Given the description of an element on the screen output the (x, y) to click on. 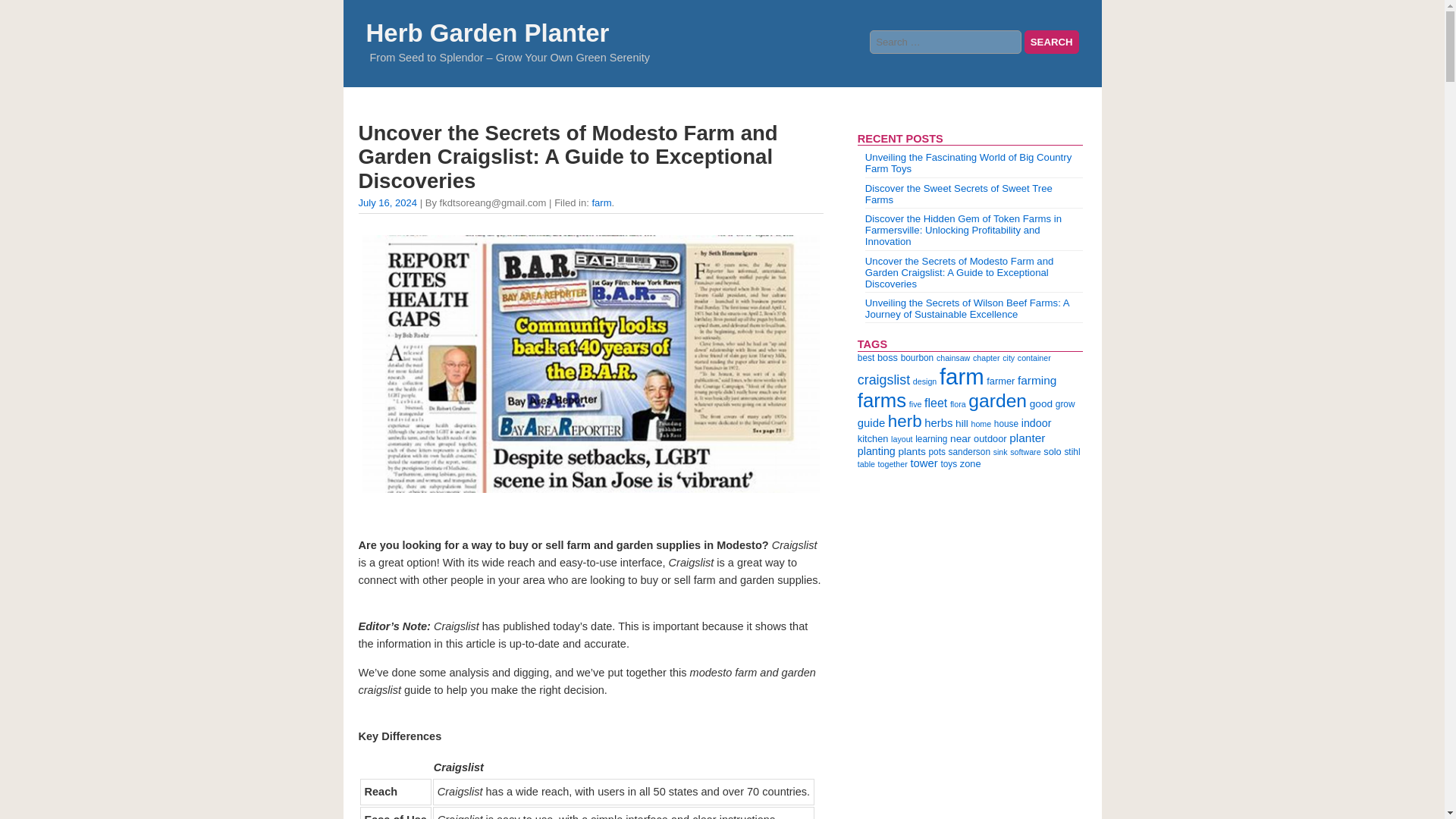
five (914, 403)
bourbon (917, 357)
farming (1037, 379)
boss (887, 357)
city (1008, 357)
container (1034, 357)
hill (961, 423)
chainsaw (952, 357)
grow (1065, 403)
Search (1051, 42)
Herb Garden Planter (486, 32)
herb (904, 420)
design (924, 380)
Search (1051, 42)
guide (871, 422)
